Given the description of an element on the screen output the (x, y) to click on. 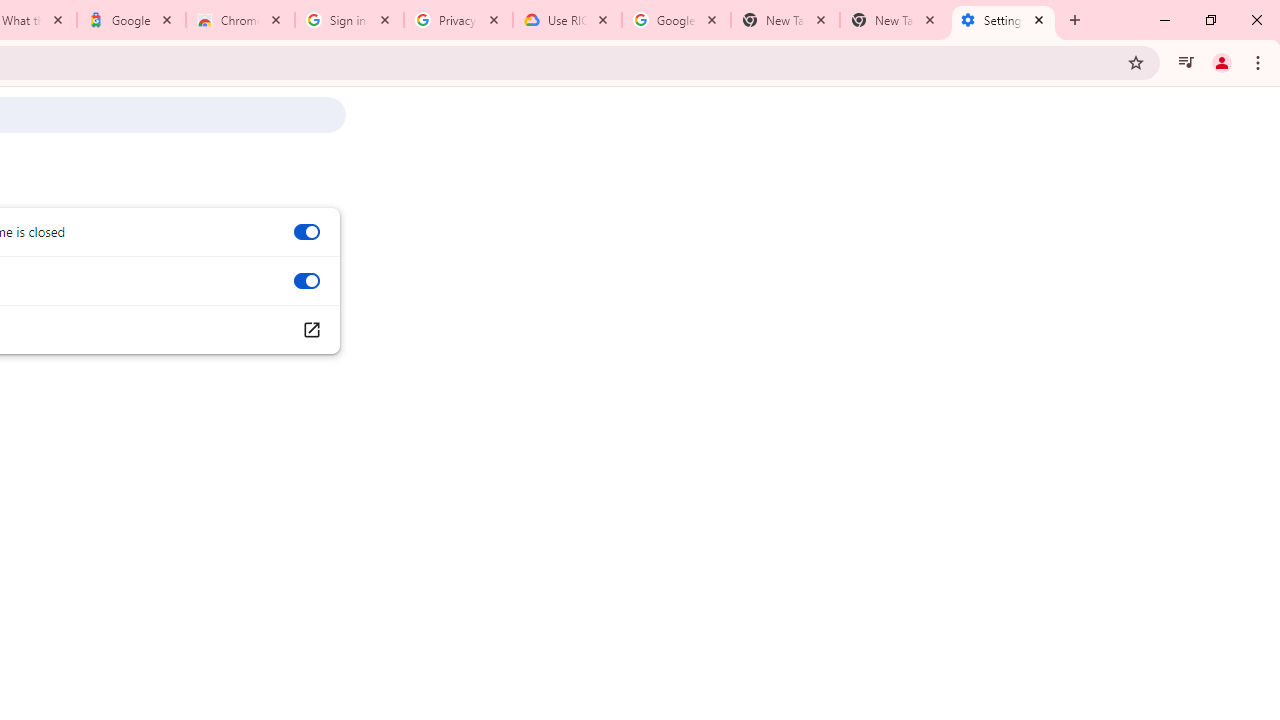
Google (130, 20)
Chrome Web Store - Color themes by Chrome (240, 20)
